Given the description of an element on the screen output the (x, y) to click on. 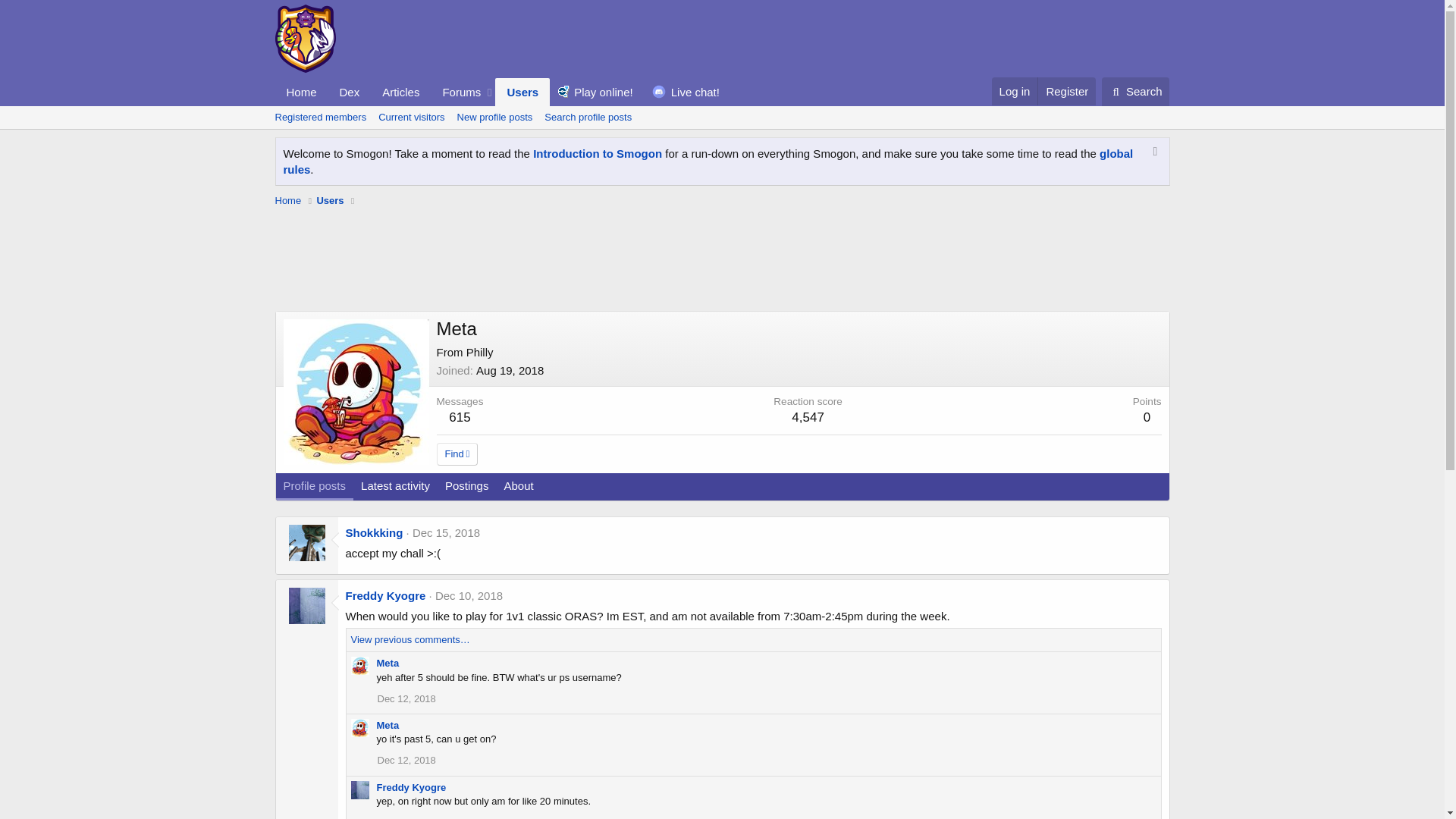
Registered members (319, 117)
Users (522, 91)
Dec 15, 2018 at 8:53 PM (446, 532)
Dec 12, 2018 at 6:42 PM (406, 817)
Forums (456, 91)
Introduction to Smogon (597, 153)
Register (1066, 90)
Dex (350, 91)
global rules (708, 161)
Dec 12, 2018 at 3:32 PM (406, 698)
